Given the description of an element on the screen output the (x, y) to click on. 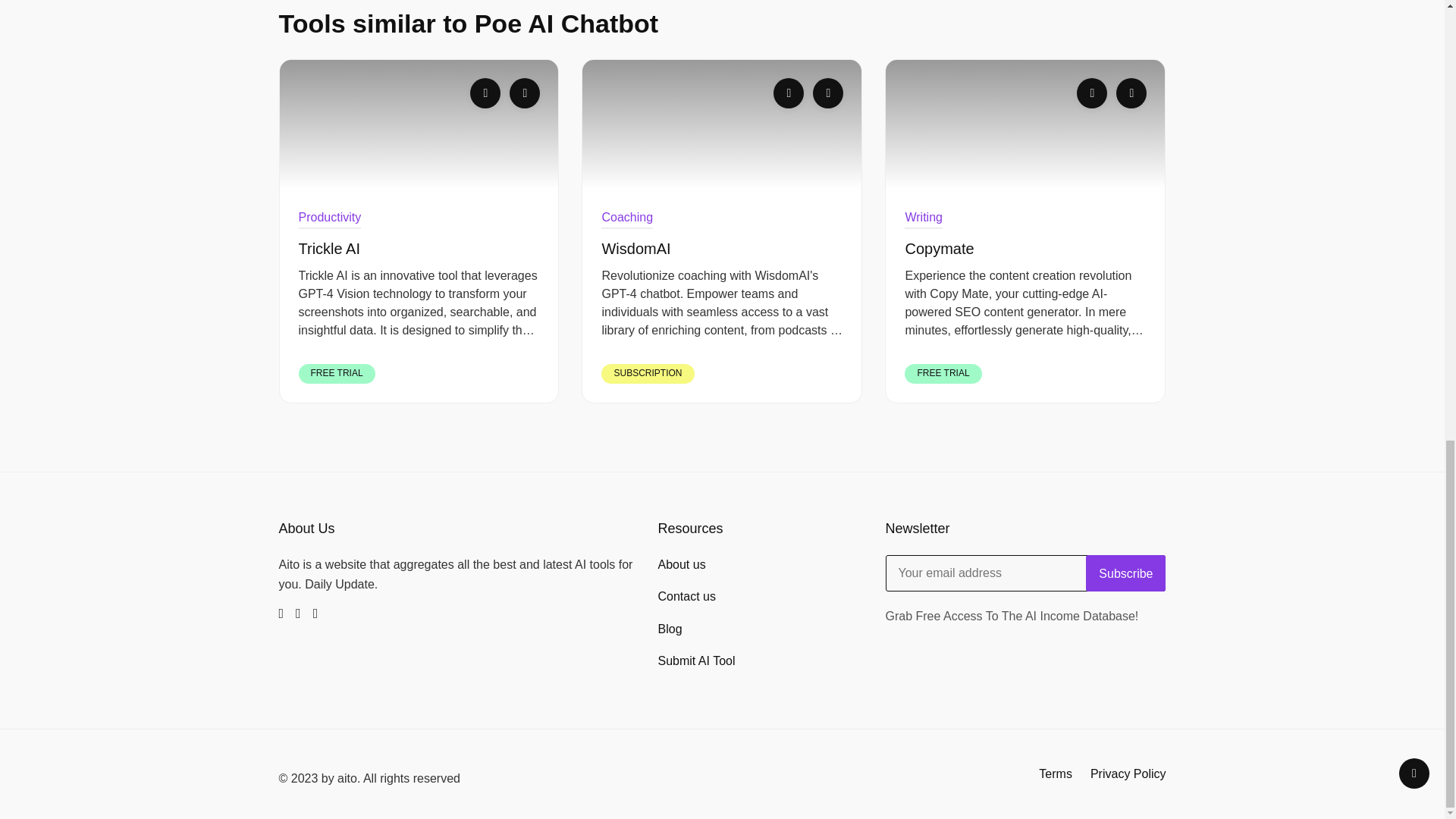
WisdomAI (721, 124)
Trickle AI (418, 124)
Coaching (626, 218)
WisdomAI (722, 248)
Subscribe (1126, 573)
Productivity (329, 218)
Trickle AI (419, 248)
